Given the description of an element on the screen output the (x, y) to click on. 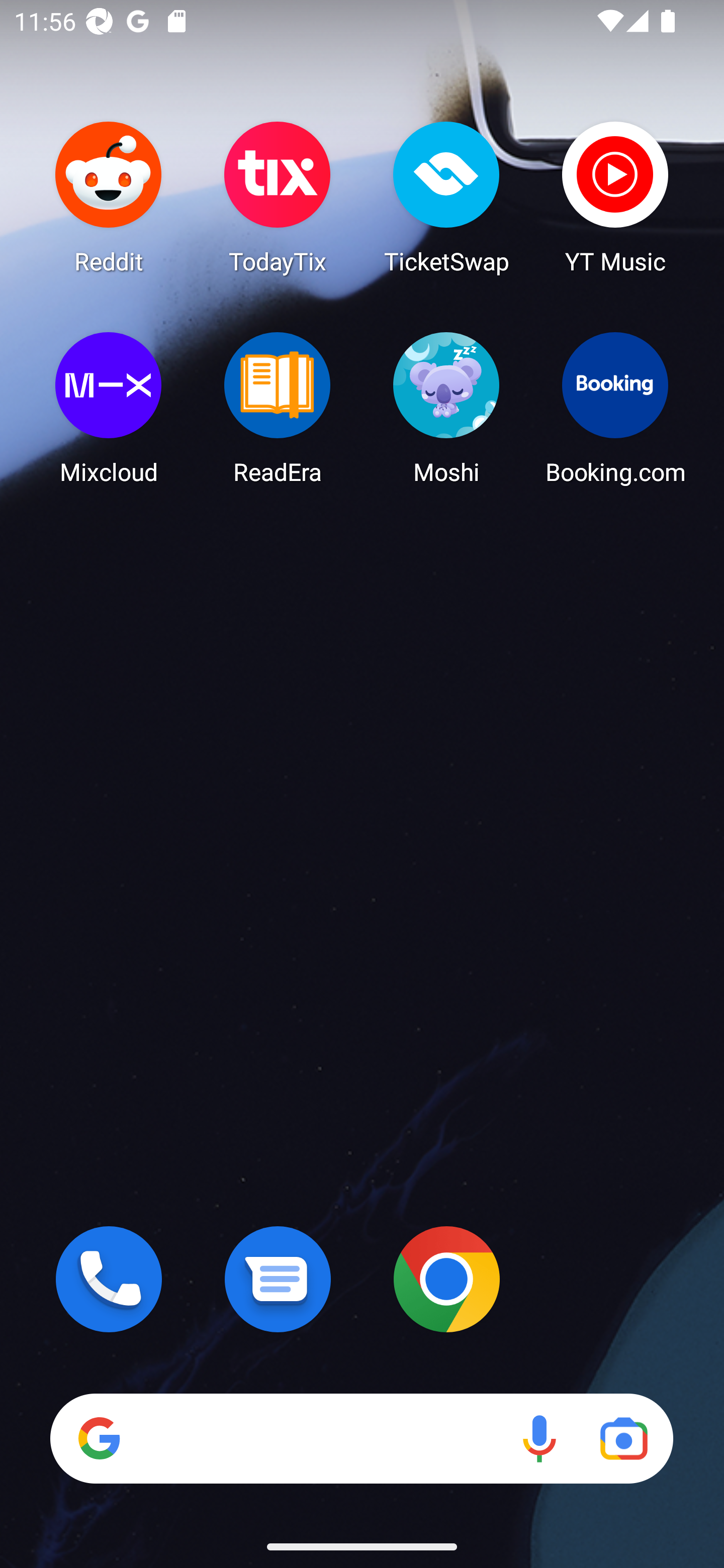
Reddit (108, 196)
TodayTix (277, 196)
TicketSwap (445, 196)
YT Music (615, 196)
Mixcloud (108, 407)
ReadEra (277, 407)
Moshi (445, 407)
Booking.com (615, 407)
Phone (108, 1279)
Messages (277, 1279)
Chrome (446, 1279)
Search Voice search Google Lens (361, 1438)
Voice search (539, 1438)
Google Lens (623, 1438)
